Given the description of an element on the screen output the (x, y) to click on. 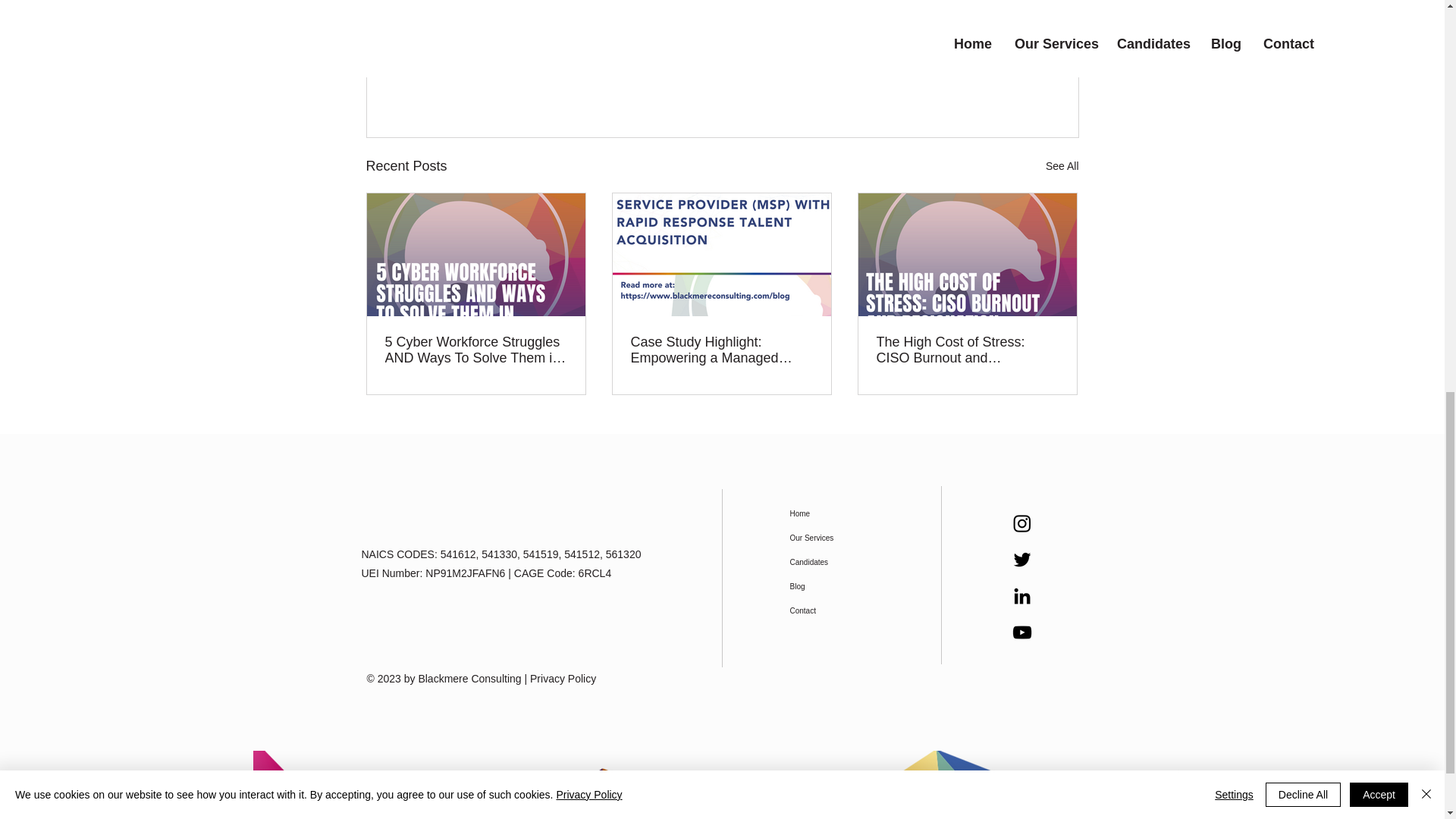
Candidates (828, 562)
5 Cyber Workforce Struggles AND Ways To Solve Them in 2024 (476, 350)
The High Cost of Stress: CISO Burnout and Resignation (967, 350)
Home (828, 514)
Contact (828, 610)
Our Services (828, 538)
Blog (828, 586)
See All (1061, 166)
Privacy Policy (562, 678)
